Given the description of an element on the screen output the (x, y) to click on. 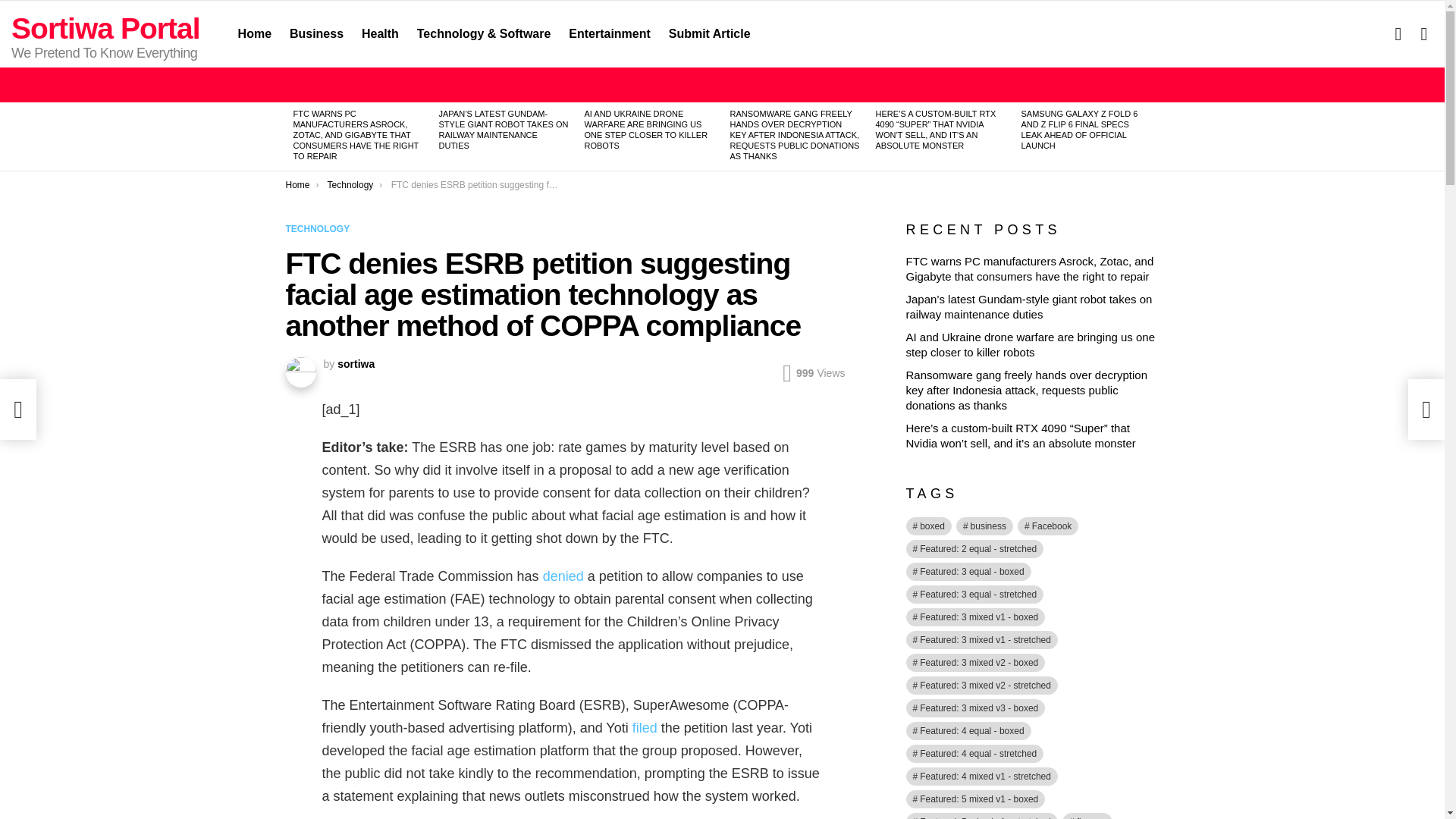
Submit Article (709, 33)
denied (563, 575)
Entertainment (609, 33)
Home (254, 33)
Home (296, 184)
Business (316, 33)
TECHNOLOGY (320, 228)
Posts by sortiwa (355, 363)
